Given the description of an element on the screen output the (x, y) to click on. 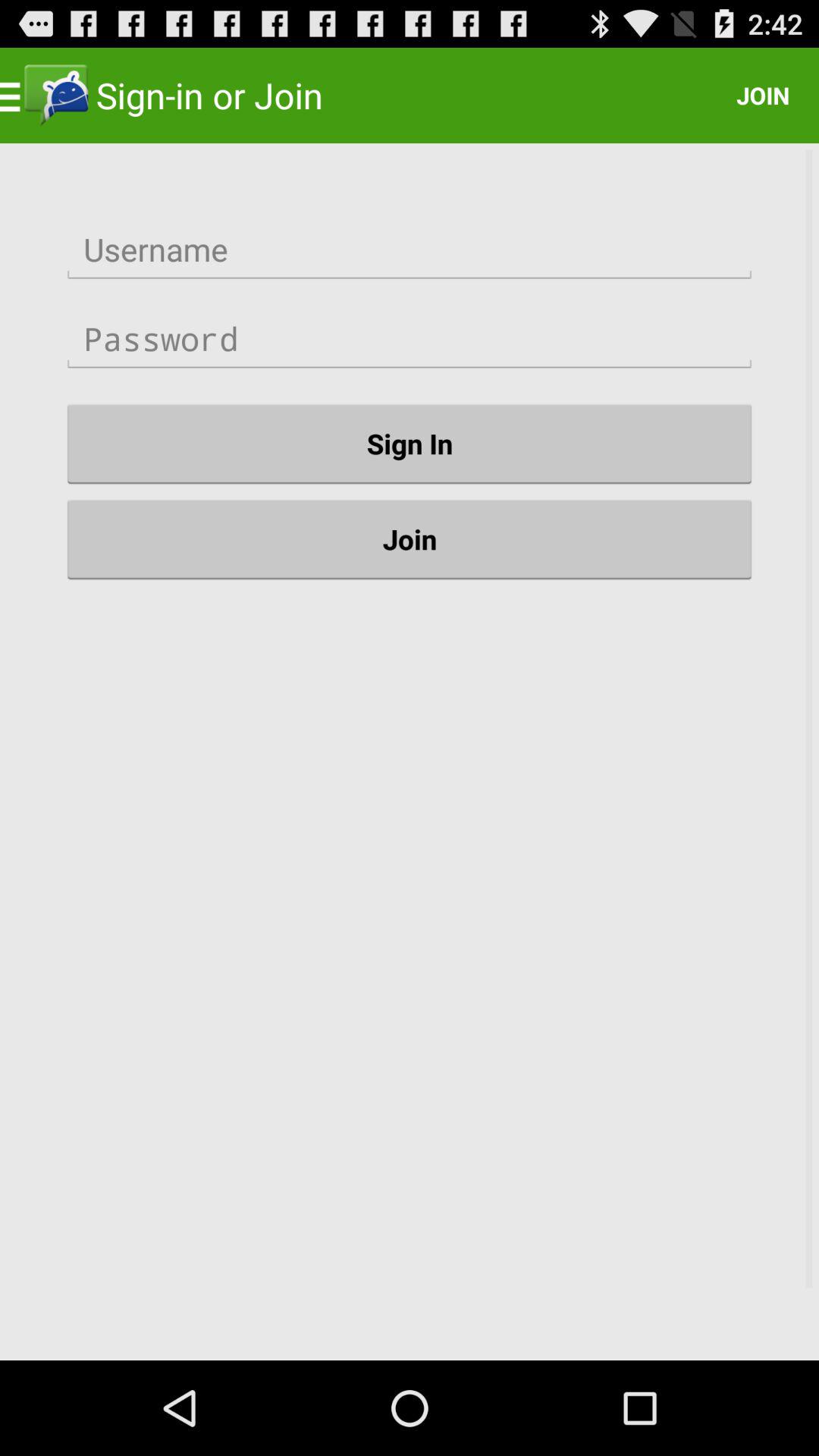
username text box (409, 249)
